Given the description of an element on the screen output the (x, y) to click on. 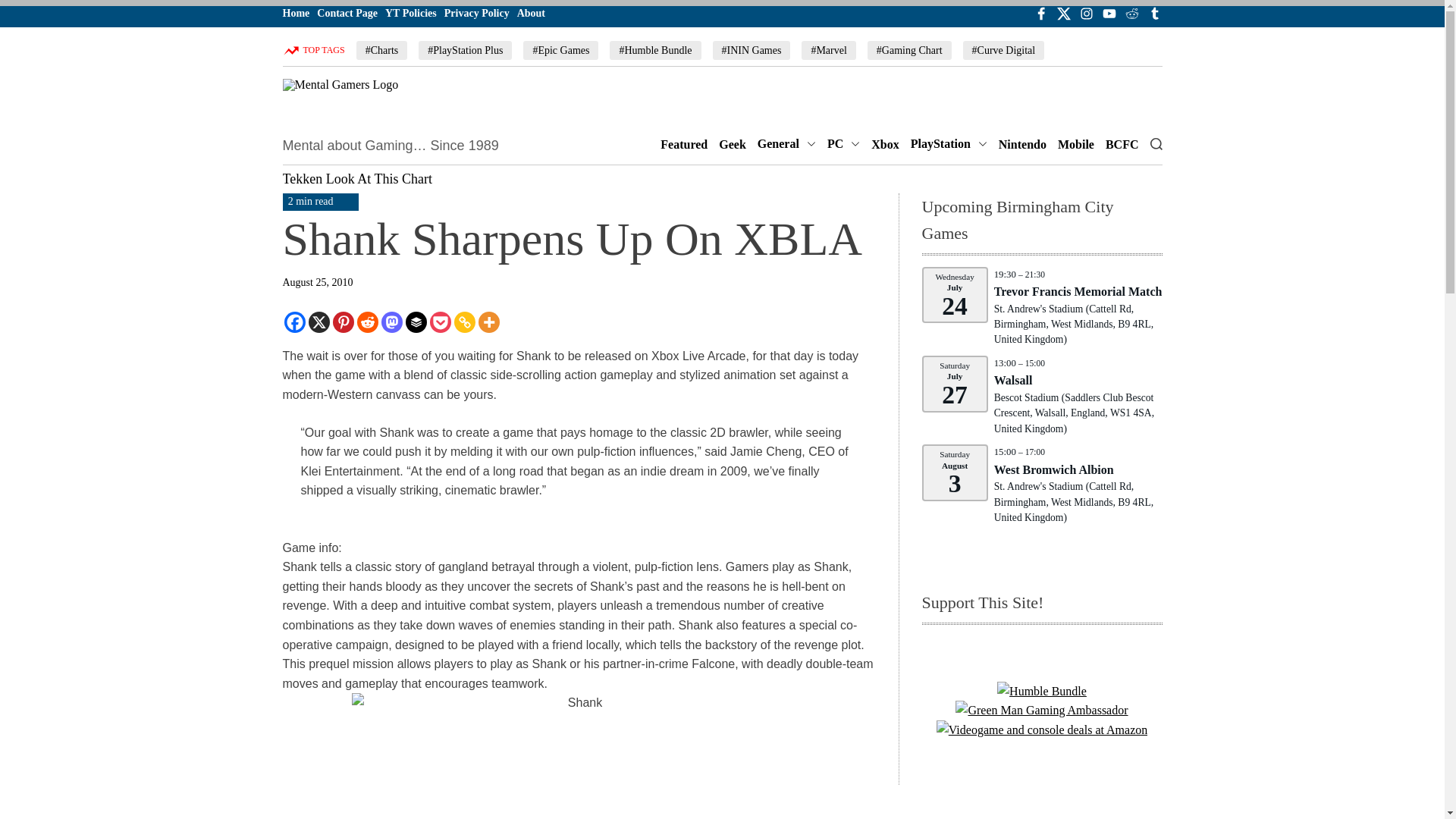
Featured (684, 144)
Copy Link (463, 322)
Buffer (415, 322)
Facebook (1040, 13)
General (786, 144)
Mobile (1076, 144)
Facebook (293, 322)
Twitter (1062, 13)
More (488, 322)
PlayStation (949, 144)
Tumblr (1154, 13)
Buy games and help charities at Humble (1041, 690)
Instagram (1085, 13)
Tekken Look At This Chart (356, 178)
YouTube (1108, 13)
